Given the description of an element on the screen output the (x, y) to click on. 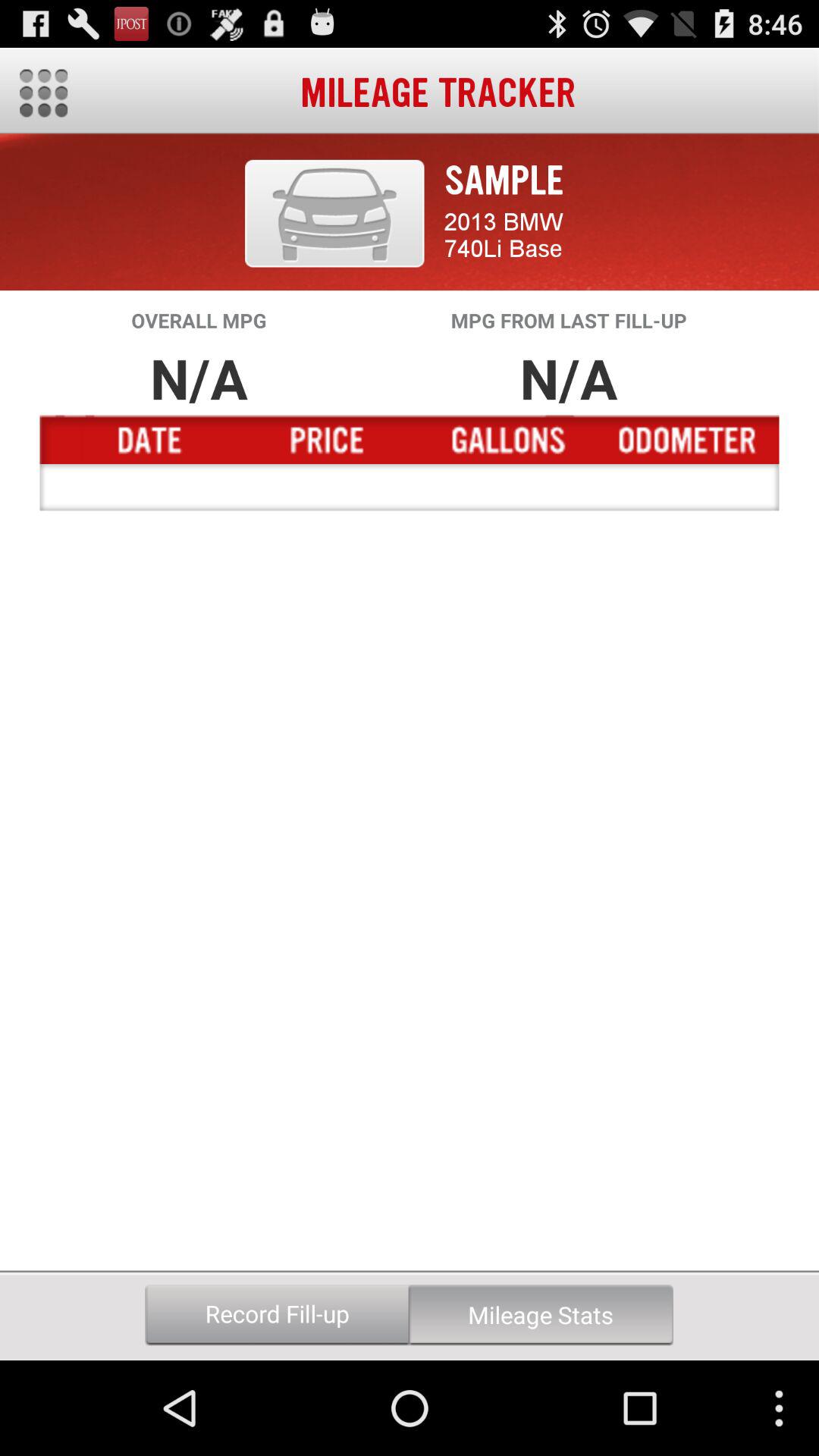
select item above the overall mpg item (334, 213)
